Given the description of an element on the screen output the (x, y) to click on. 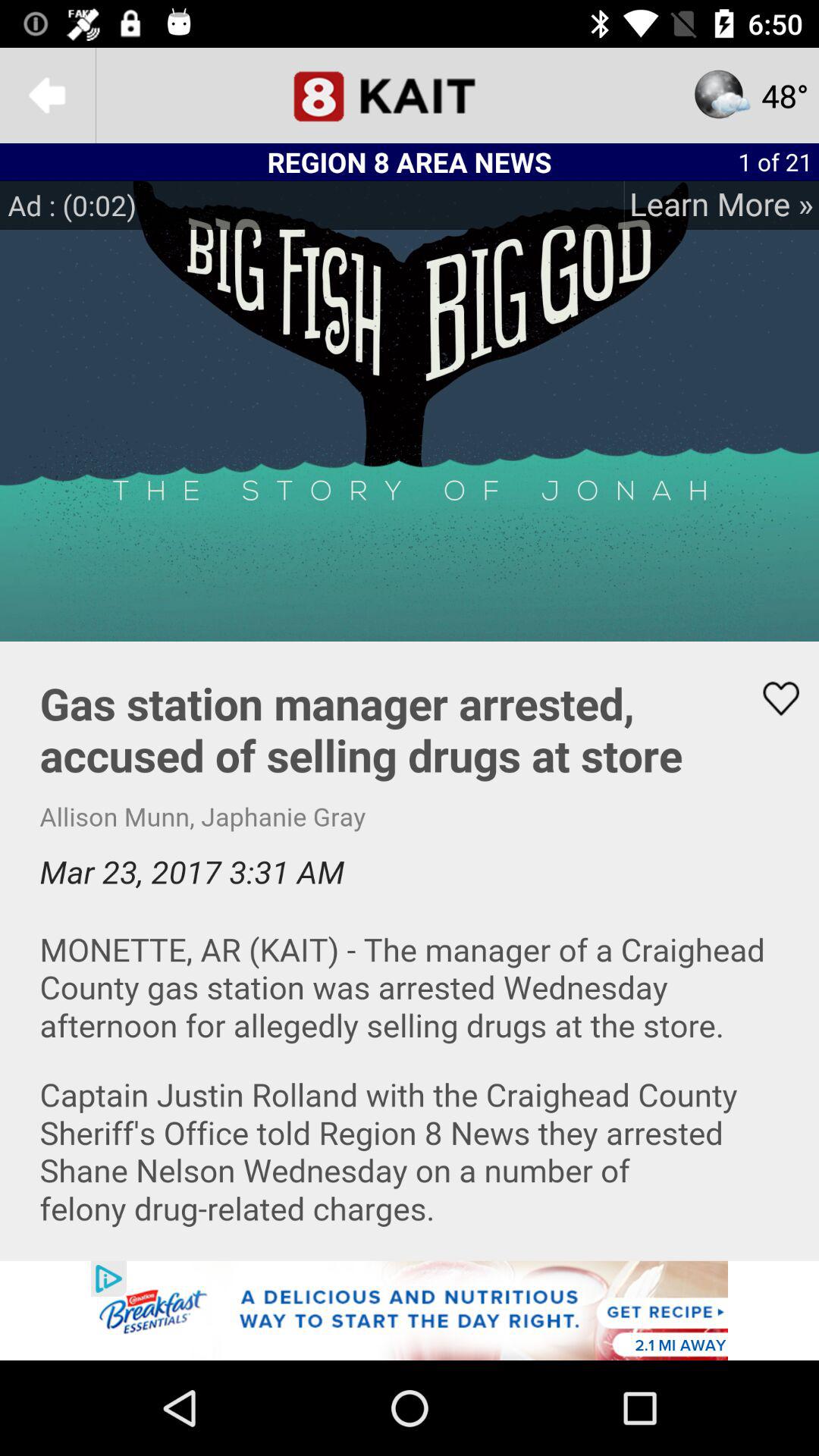
home page (409, 95)
